Given the description of an element on the screen output the (x, y) to click on. 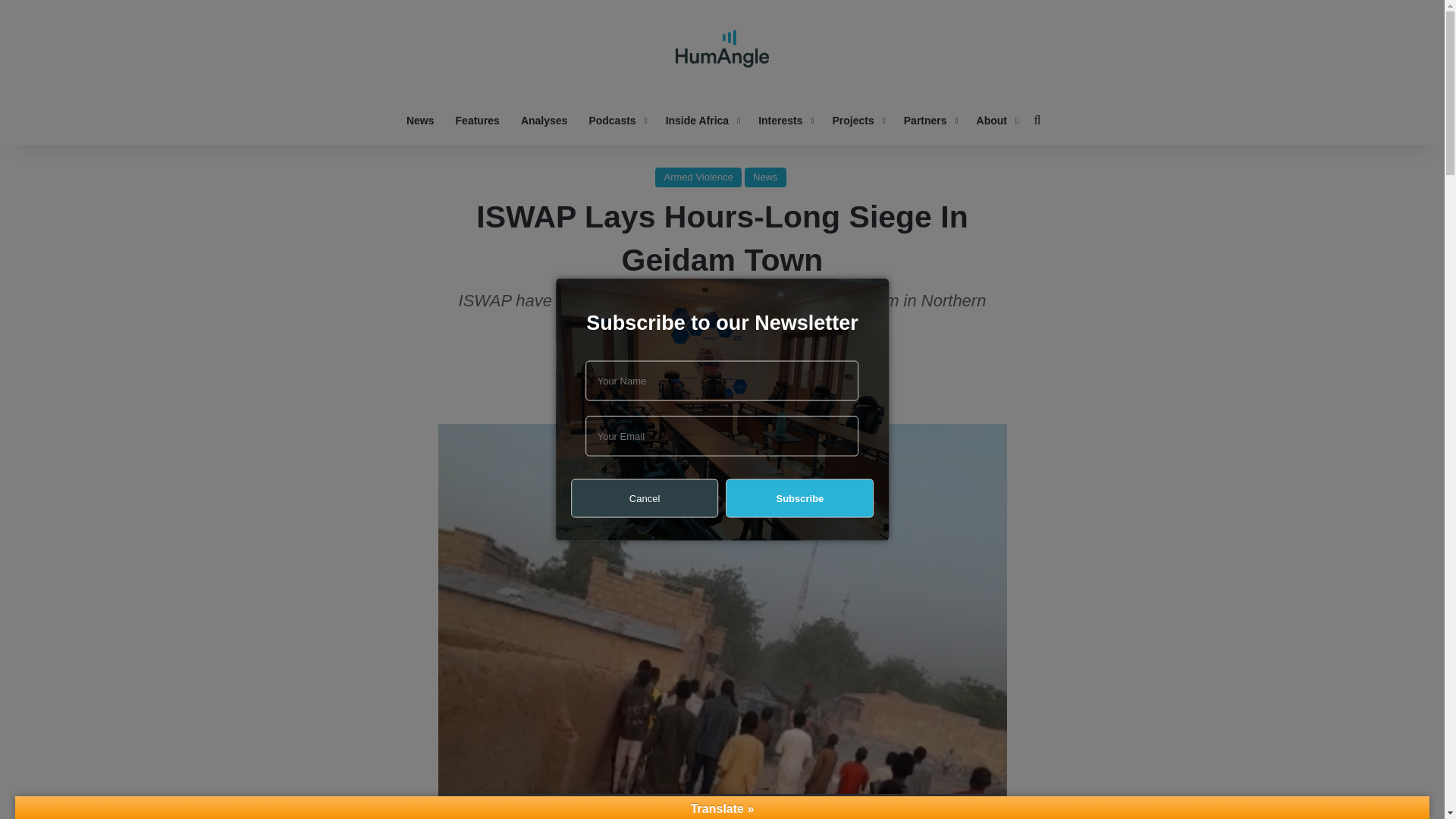
HumAngle (721, 48)
Interests (784, 120)
LinkedIn (757, 393)
Facebook (686, 393)
X (721, 393)
Features (478, 120)
Analyses (544, 120)
News (420, 120)
Podcasts (615, 120)
Murtala Abdullahi (690, 351)
Inside Africa (701, 120)
